Given the description of an element on the screen output the (x, y) to click on. 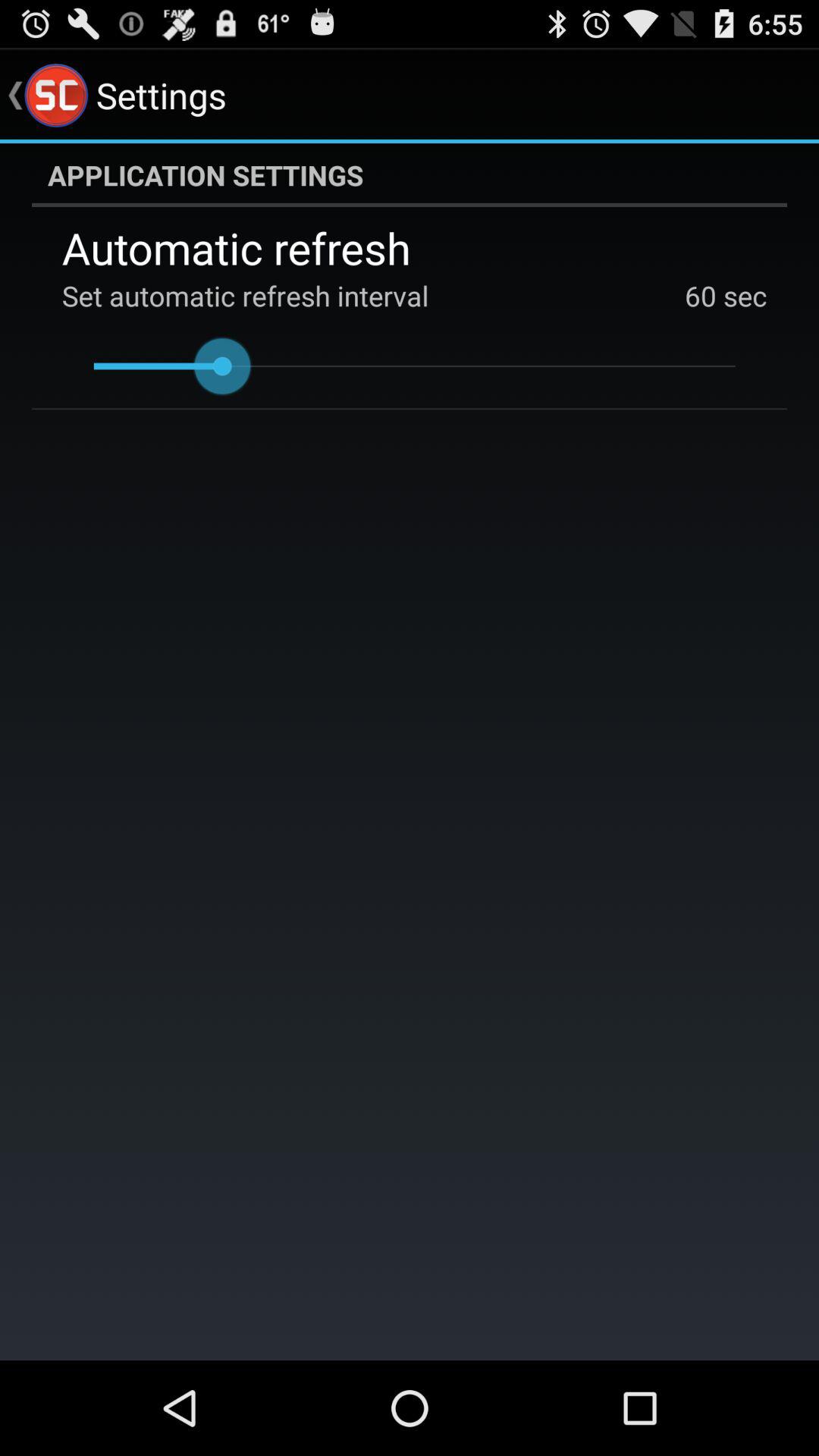
turn on item to the left of  sec icon (700, 295)
